Given the description of an element on the screen output the (x, y) to click on. 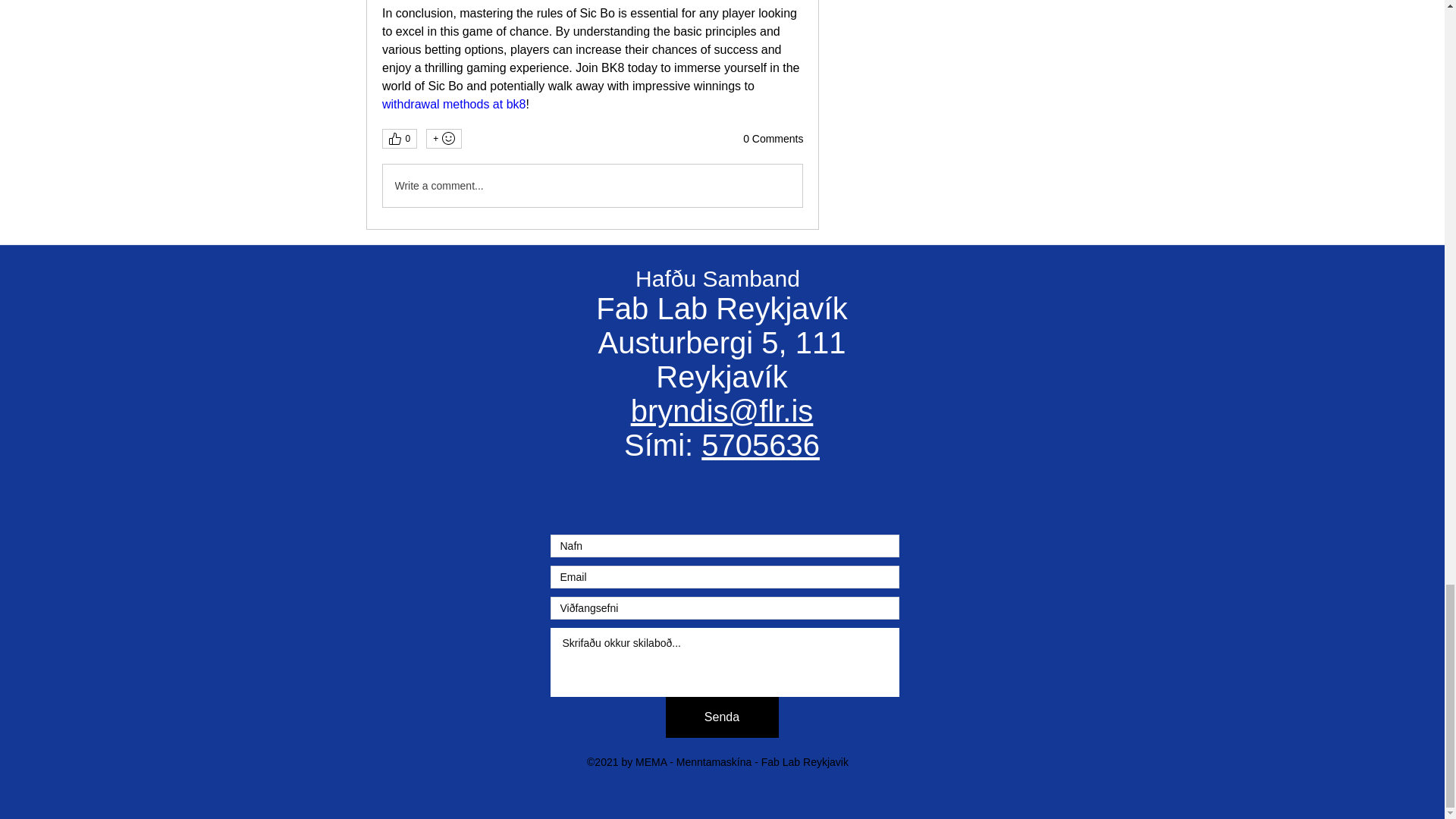
withdrawal methods at bk8 (453, 103)
0 Comments (772, 139)
Write a comment... (591, 185)
